Given the description of an element on the screen output the (x, y) to click on. 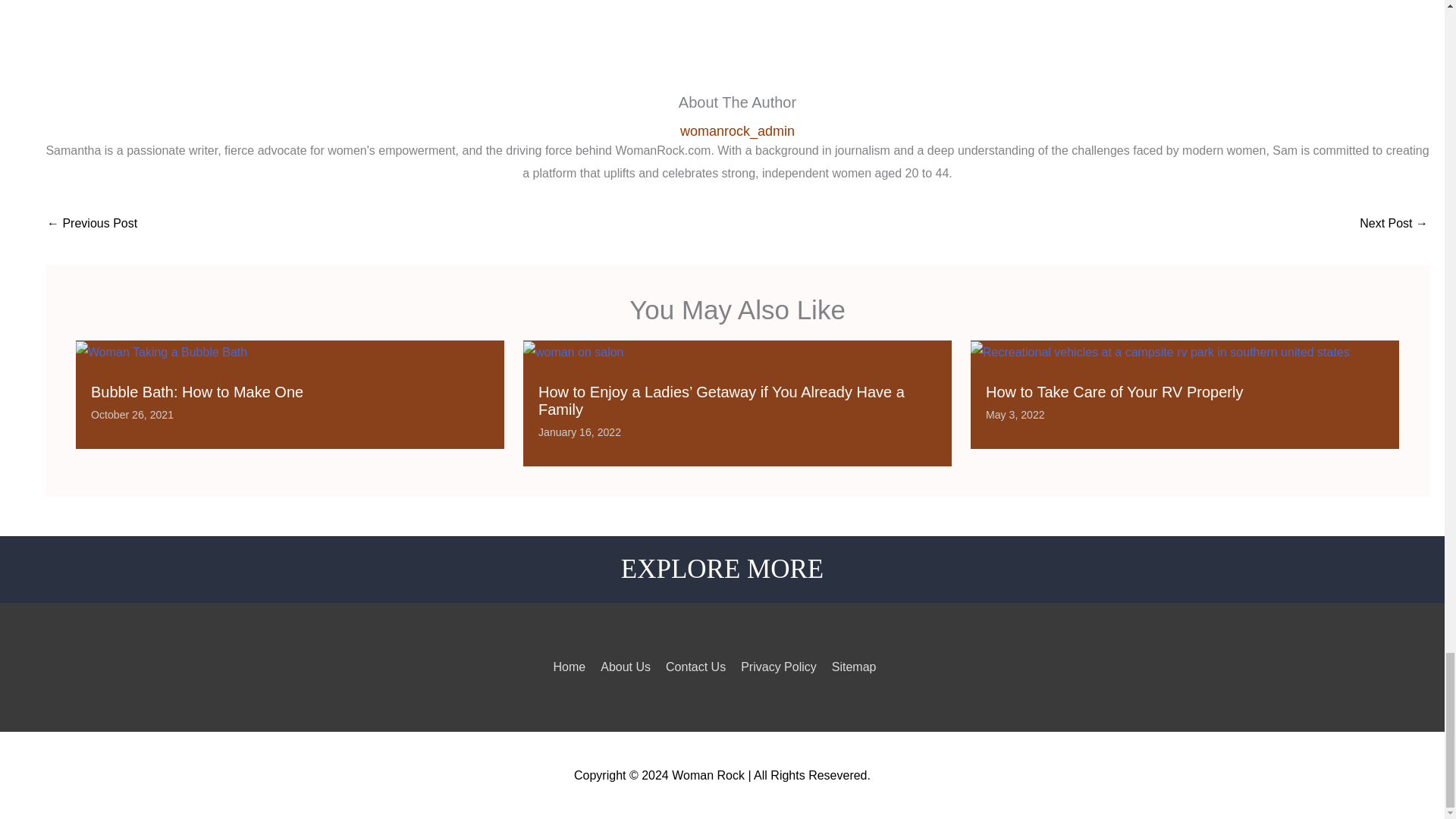
Bubble Bath: How to Make One (196, 392)
Contact Us (695, 666)
About Us (624, 666)
Home (569, 666)
Privacy Policy (778, 666)
How to Take Care of Your RV Properly (1114, 392)
Sitemap (853, 666)
What to Do When Improving in Fashion: A Woman's Guide (1393, 224)
